Given the description of an element on the screen output the (x, y) to click on. 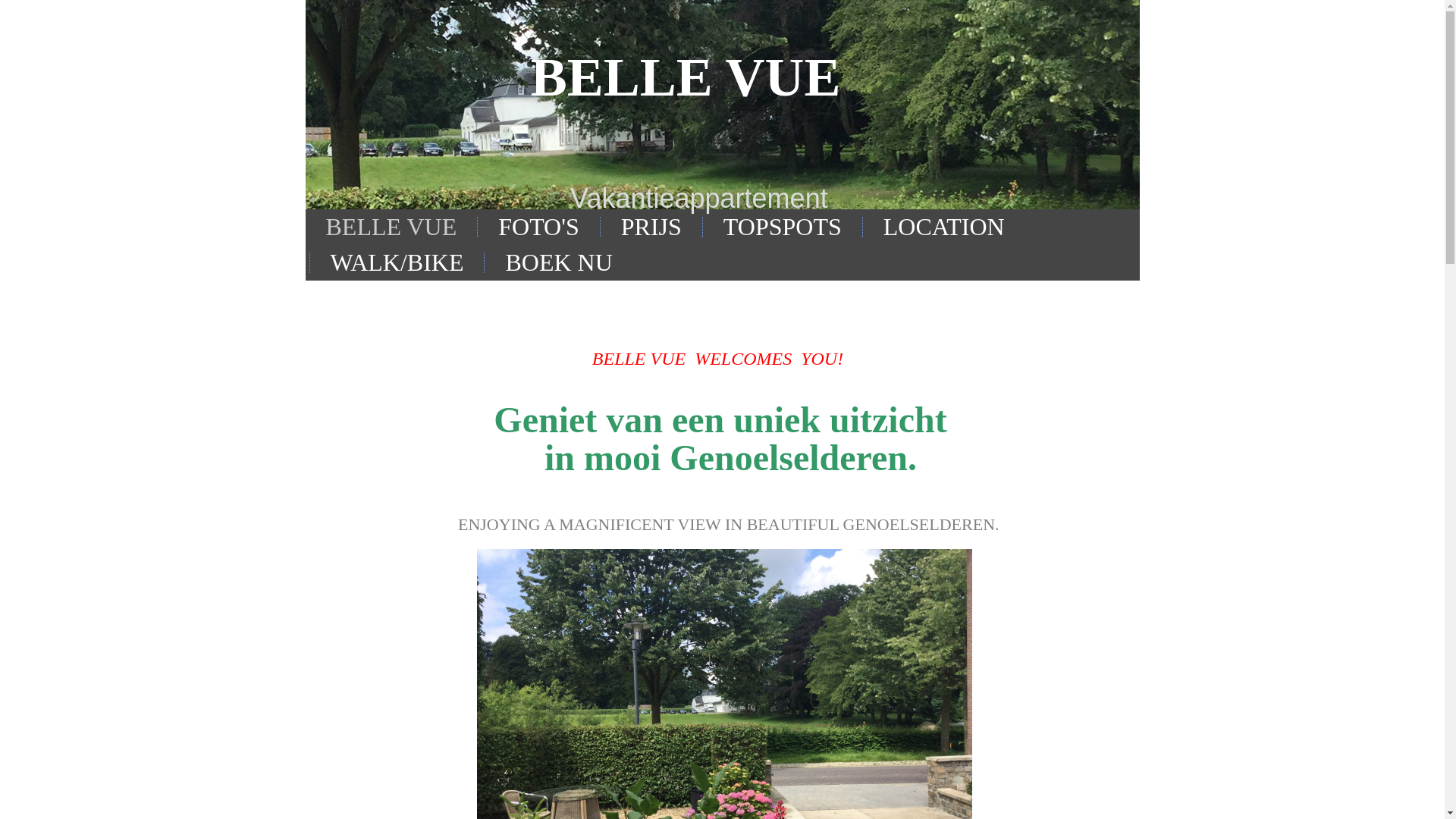
TOPSPOTS Element type: text (782, 226)
LOCATION Element type: text (943, 226)
BELLE VUE Element type: text (391, 226)
WALK/BIKE Element type: text (396, 262)
BOEK NU Element type: text (558, 262)
BELLE VUE Element type: text (685, 77)
PRIJS Element type: text (651, 226)
FOTO'S Element type: text (538, 226)
